Given the description of an element on the screen output the (x, y) to click on. 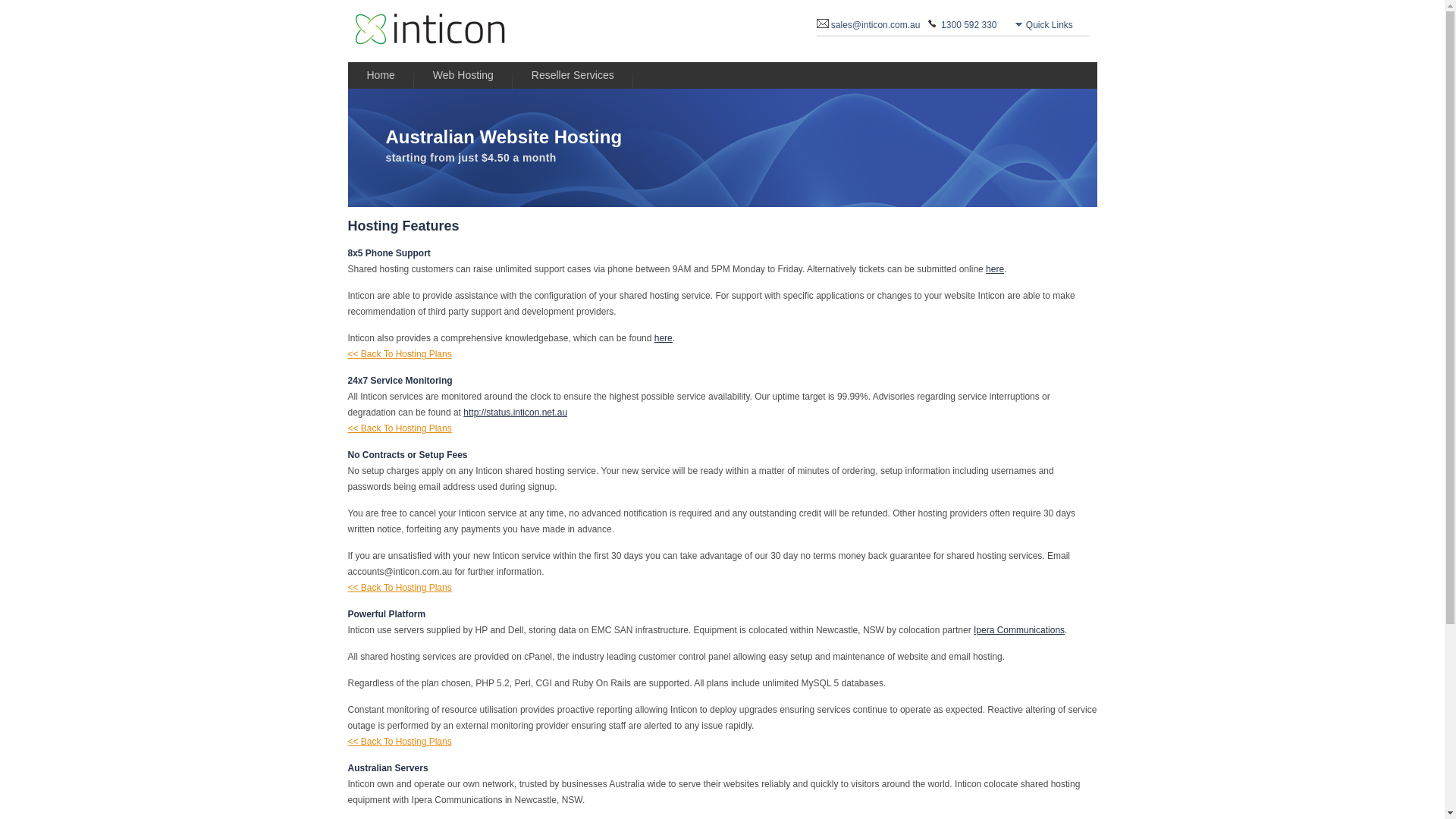
here Element type: text (663, 337)
<< Back To Hosting Plans Element type: text (399, 587)
Web Hosting Element type: text (463, 75)
Quick Links Element type: text (1051, 24)
here Element type: text (994, 268)
Reseller Services Element type: text (572, 75)
<< Back To Hosting Plans Element type: text (399, 428)
Australian Servers Element type: text (387, 767)
1300 592 330 Element type: text (970, 24)
No Contracts or Setup Fees Element type: text (407, 454)
sales@inticon.com.au Element type: text (877, 24)
24x7 Service Monitoring Element type: text (399, 380)
Home Element type: text (380, 75)
Inticon Element type: text (444, 30)
Powerful Platform Element type: text (386, 613)
Ipera Communications Element type: text (1018, 629)
http://status.inticon.net.au Element type: text (515, 412)
<< Back To Hosting Plans Element type: text (399, 741)
8x5 Phone Support Element type: text (388, 252)
<< Back To Hosting Plans Element type: text (399, 353)
